Given the description of an element on the screen output the (x, y) to click on. 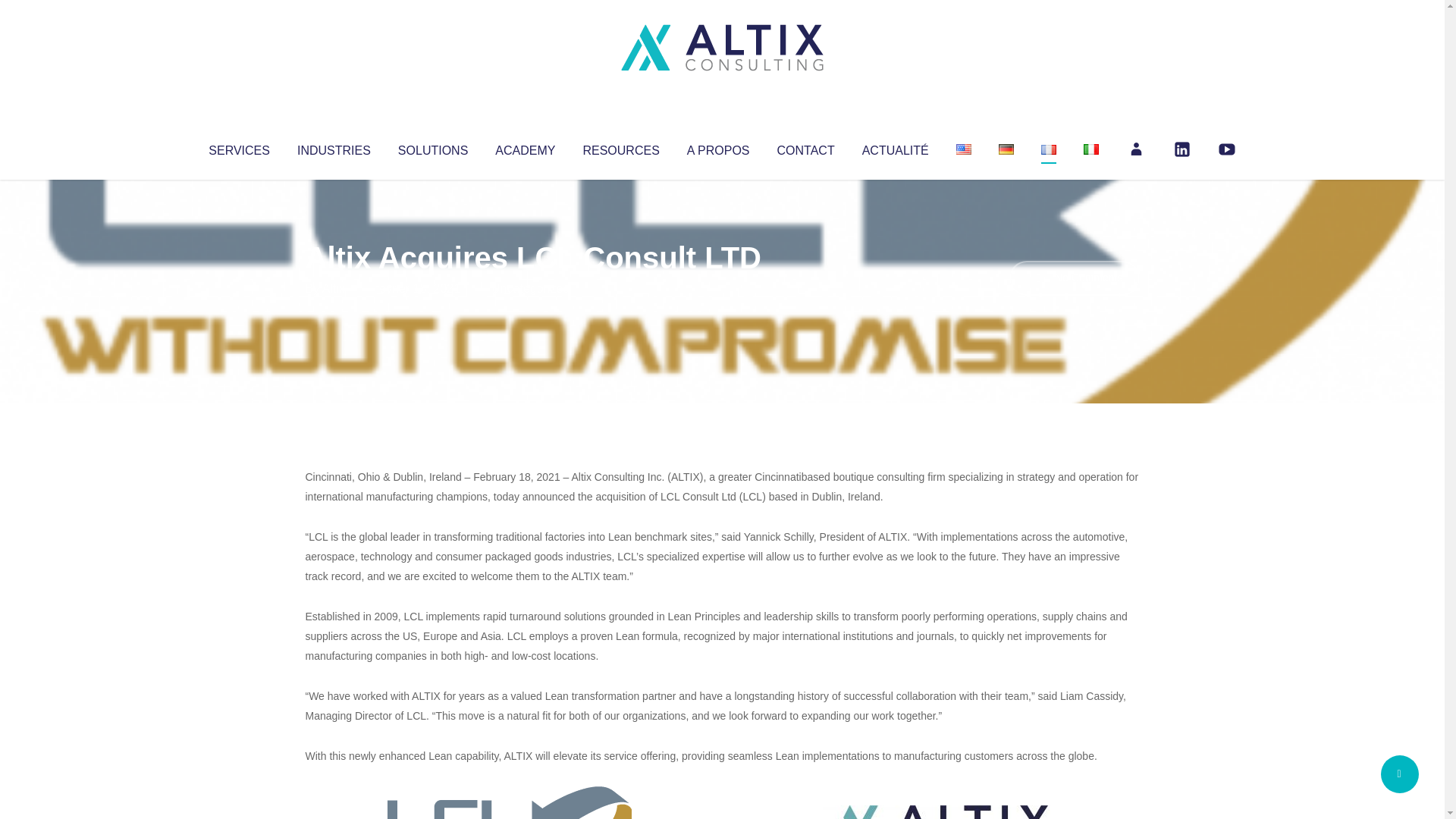
SERVICES (238, 146)
Articles par Altix (333, 287)
SOLUTIONS (432, 146)
Altix (333, 287)
Uncategorized (530, 287)
A PROPOS (718, 146)
INDUSTRIES (334, 146)
No Comments (1073, 278)
ACADEMY (524, 146)
RESOURCES (620, 146)
